Given the description of an element on the screen output the (x, y) to click on. 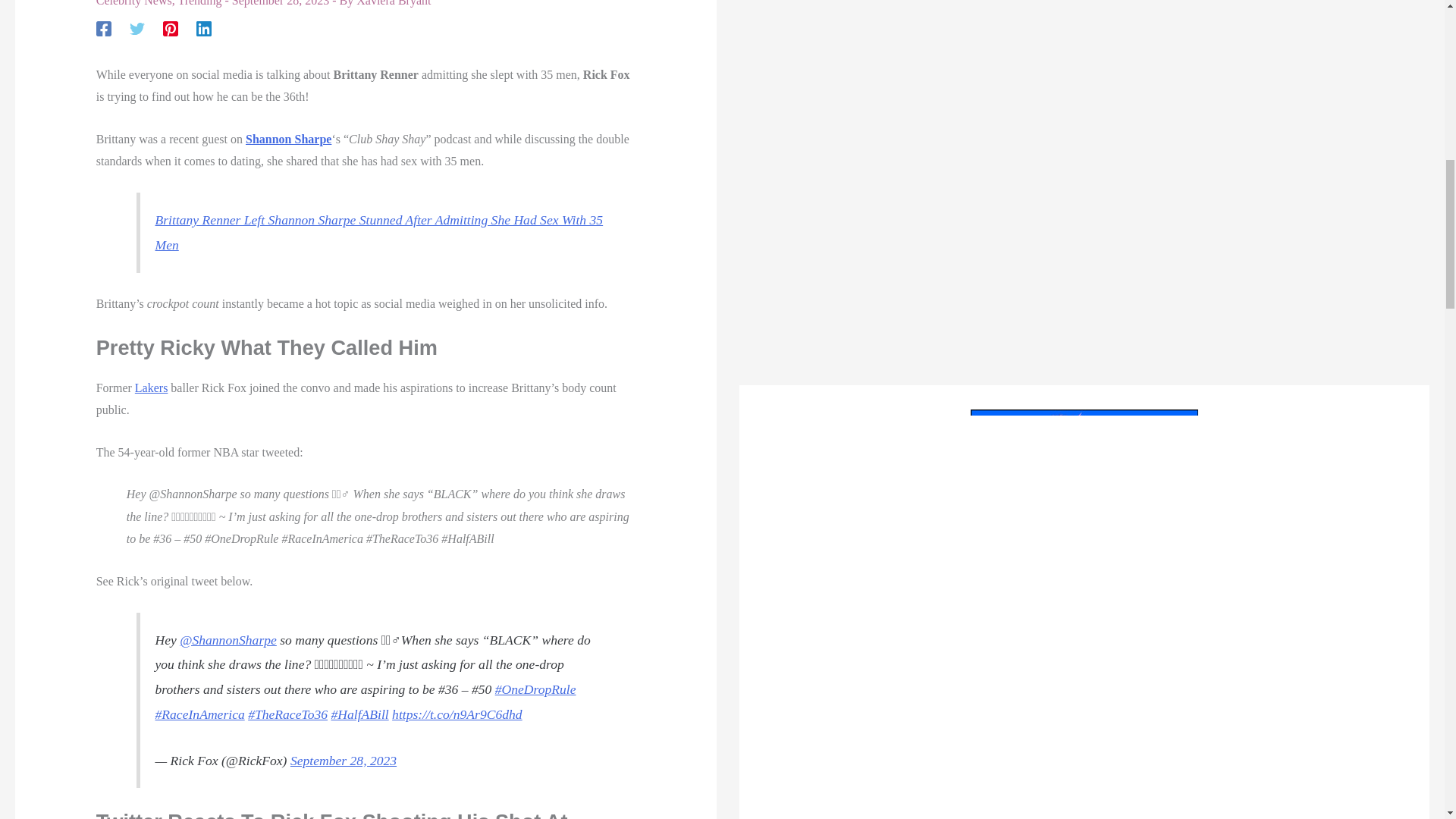
View all posts by Xaviera Bryant (393, 3)
Trending (199, 3)
Shannon Sharpe (288, 138)
Xaviera Bryant (393, 3)
Lakers (151, 387)
Celebrity News (133, 3)
